Given the description of an element on the screen output the (x, y) to click on. 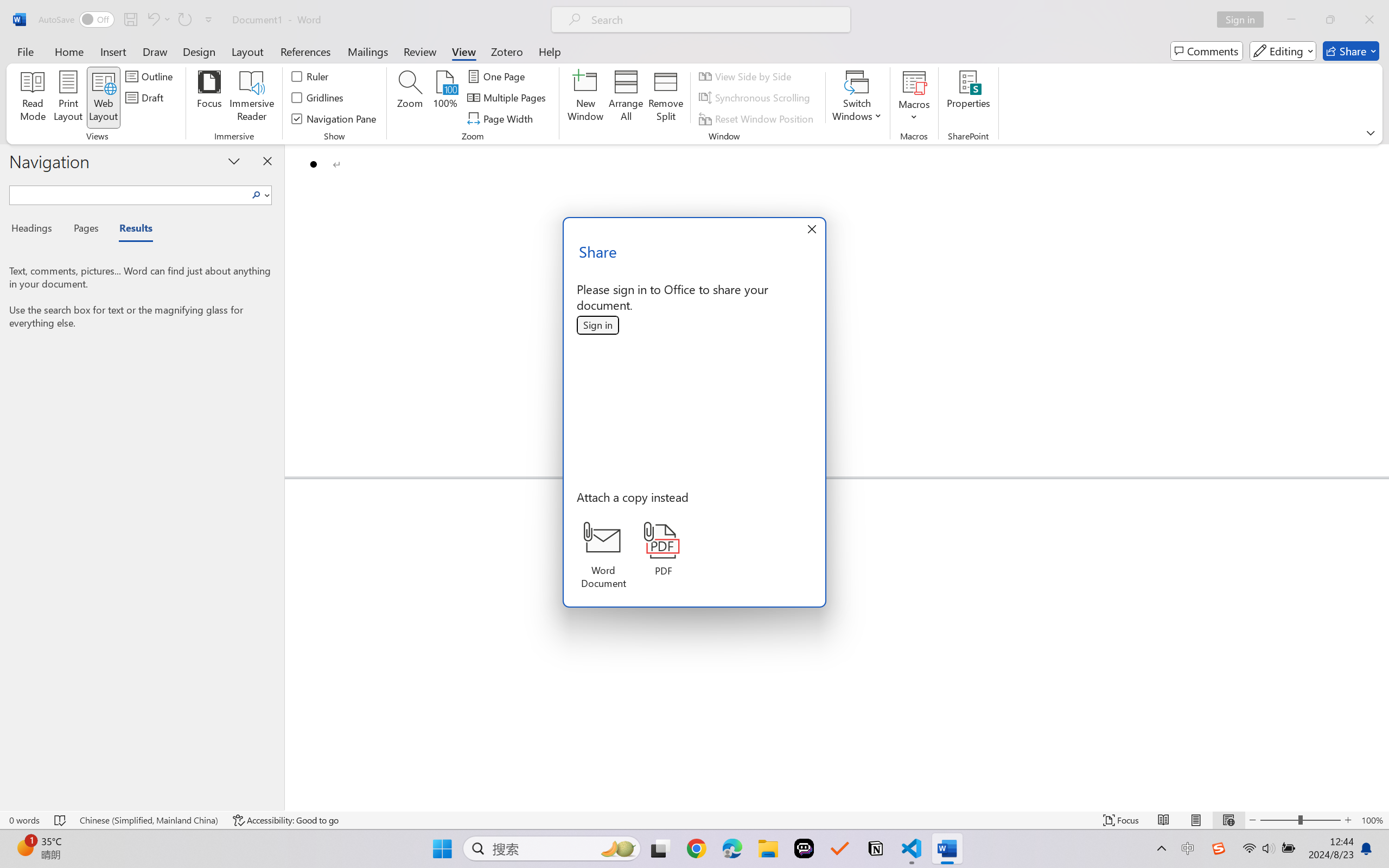
PDF (663, 549)
Undo Bullet Default (152, 19)
One Page (497, 75)
